Given the description of an element on the screen output the (x, y) to click on. 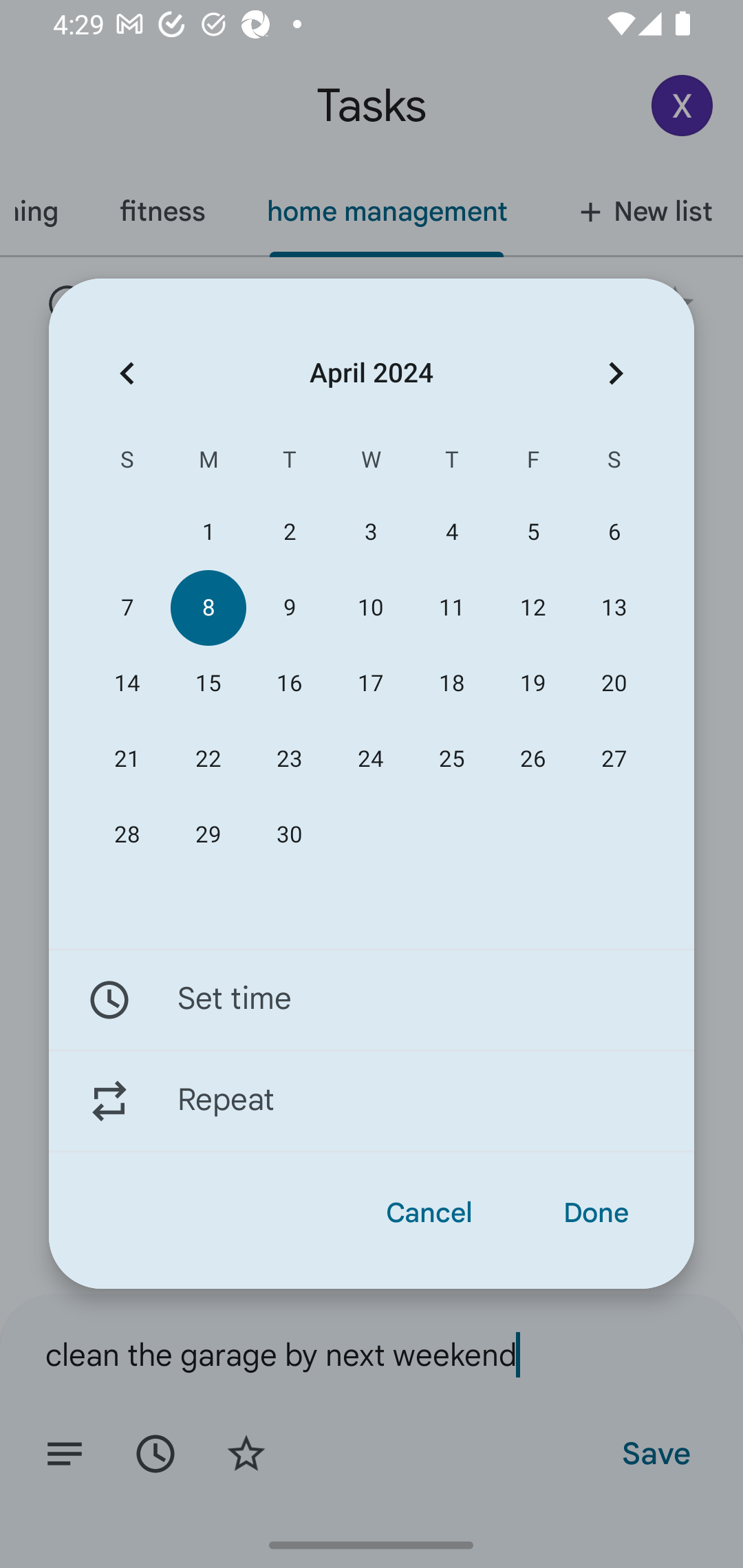
Previous month (126, 372)
Next month (615, 372)
1 01 April 2024 (207, 531)
2 02 April 2024 (288, 531)
3 03 April 2024 (370, 531)
4 04 April 2024 (451, 531)
5 05 April 2024 (532, 531)
6 06 April 2024 (613, 531)
7 07 April 2024 (126, 608)
8 08 April 2024 (207, 608)
9 09 April 2024 (288, 608)
10 10 April 2024 (370, 608)
11 11 April 2024 (451, 608)
12 12 April 2024 (532, 608)
13 13 April 2024 (613, 608)
14 14 April 2024 (126, 683)
15 15 April 2024 (207, 683)
16 16 April 2024 (288, 683)
17 17 April 2024 (370, 683)
18 18 April 2024 (451, 683)
19 19 April 2024 (532, 683)
20 20 April 2024 (613, 683)
21 21 April 2024 (126, 758)
22 22 April 2024 (207, 758)
23 23 April 2024 (288, 758)
24 24 April 2024 (370, 758)
25 25 April 2024 (451, 758)
26 26 April 2024 (532, 758)
27 27 April 2024 (613, 758)
28 28 April 2024 (126, 834)
29 29 April 2024 (207, 834)
30 30 April 2024 (288, 834)
Set time (371, 999)
Repeat (371, 1101)
Cancel (429, 1213)
Done (595, 1213)
